Given the description of an element on the screen output the (x, y) to click on. 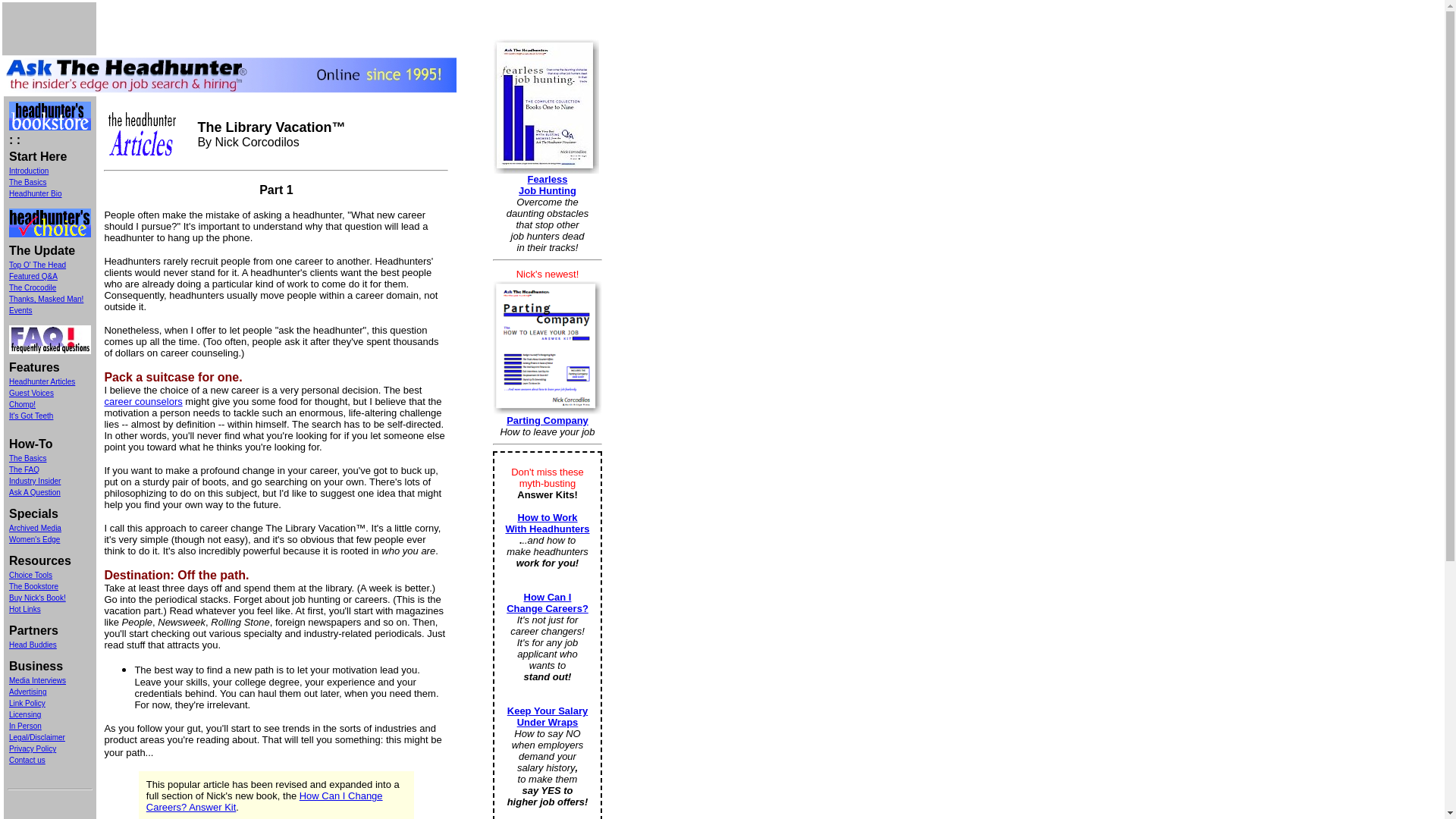
Headhunter Articles (41, 381)
In Person (25, 725)
Licensing (24, 714)
Choice Tools (30, 574)
Top O' The Head (36, 265)
It's Got Teeth (30, 415)
Link Policy (26, 703)
The Crocodile (32, 287)
Head Buddies (32, 643)
Advertising (27, 691)
